Given the description of an element on the screen output the (x, y) to click on. 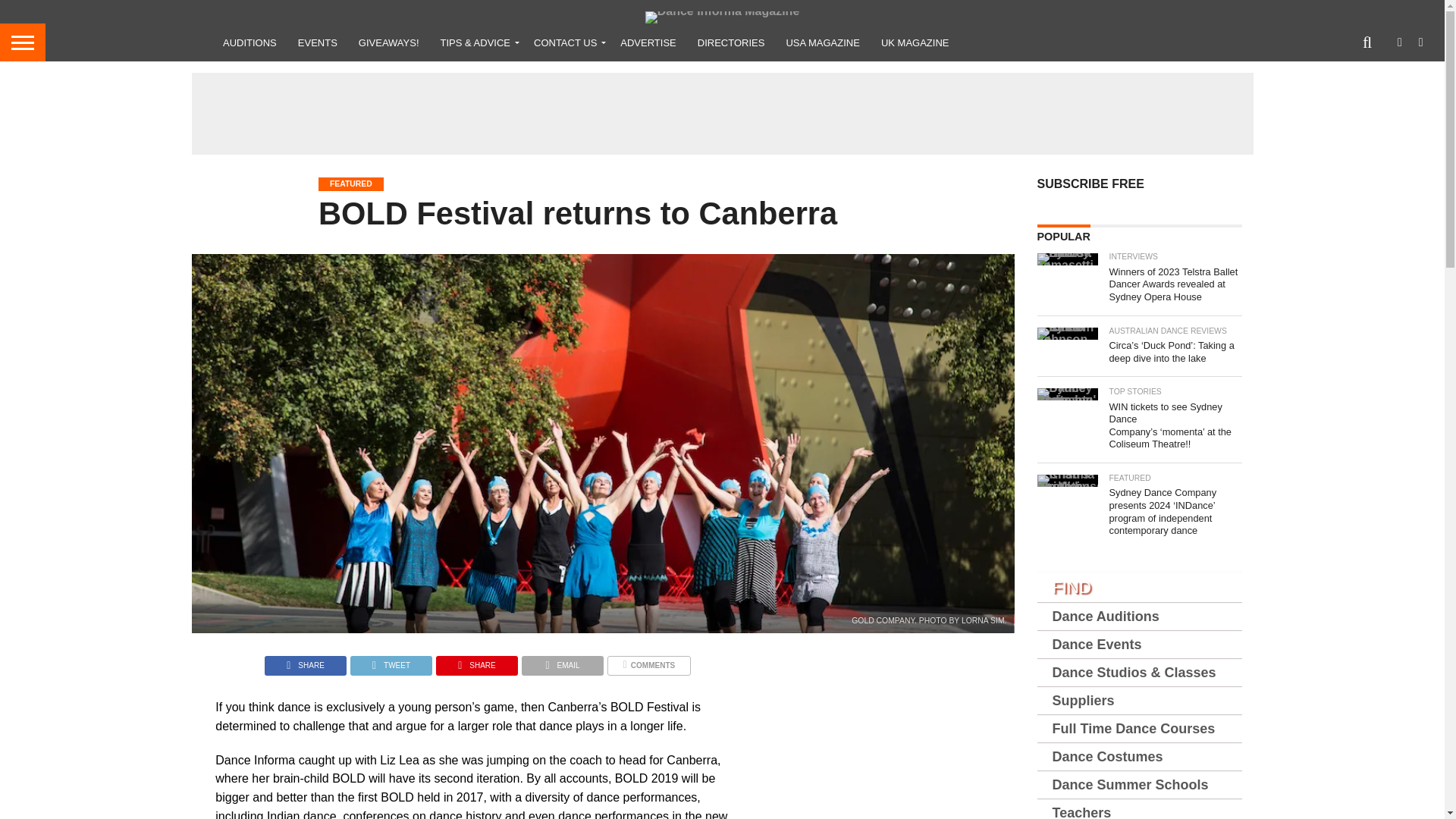
TWEET (390, 661)
Share on Facebook (305, 661)
AUDITIONS (249, 42)
ADVERTISE (647, 42)
USA MAGAZINE (822, 42)
UK MAGAZINE (914, 42)
SHARE (305, 661)
EVENTS (316, 42)
Tweet This Post (390, 661)
DIRECTORIES (731, 42)
CONTACT US (566, 42)
Pin This Post (476, 661)
GIVEAWAYS! (388, 42)
